Given the description of an element on the screen output the (x, y) to click on. 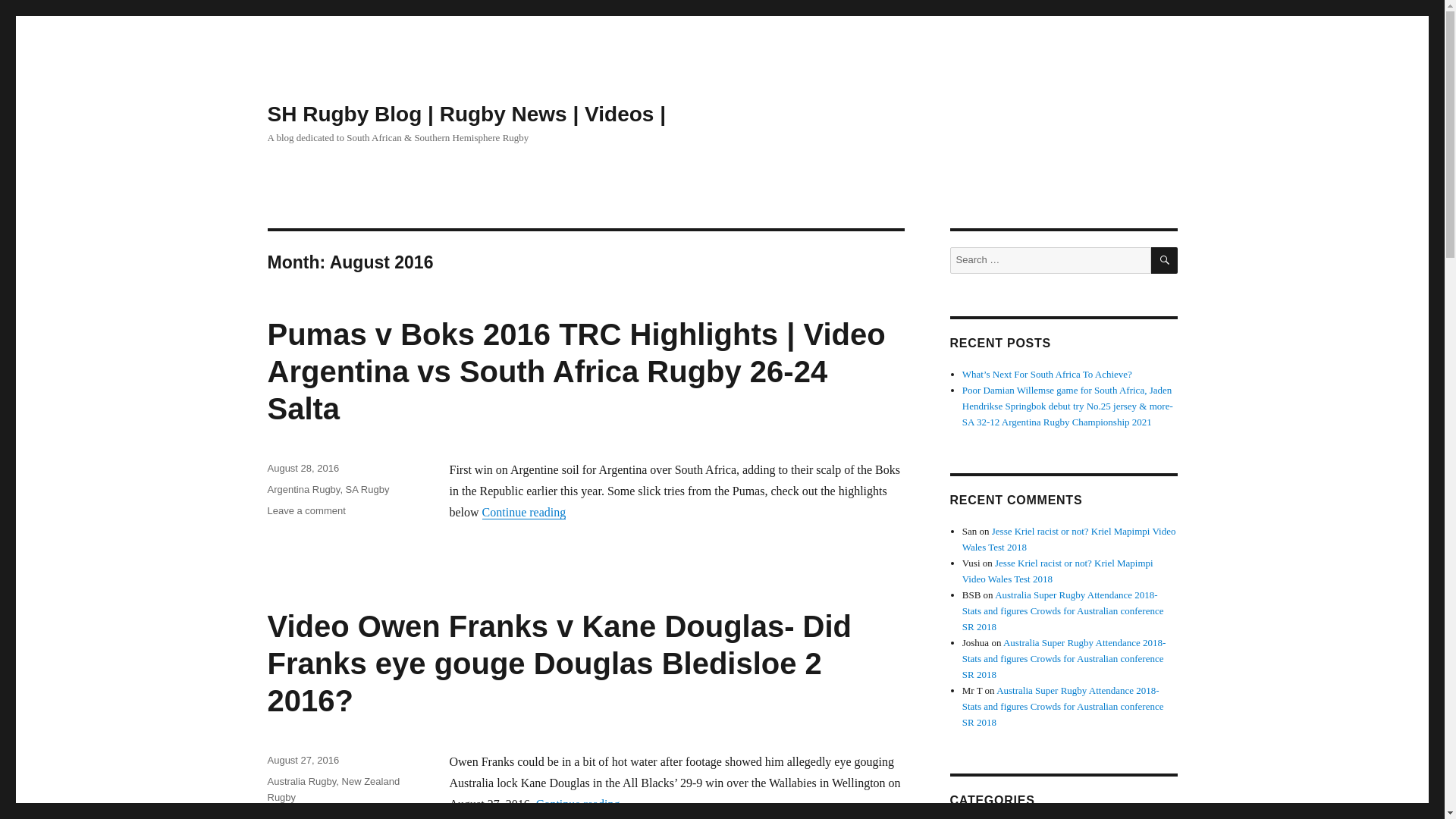
Australia Rugby (301, 781)
August 28, 2016 (302, 468)
New Zealand Rugby (332, 789)
SEARCH (1164, 260)
SA Rugby (368, 489)
Argentina Rugby (302, 489)
August 27, 2016 (302, 759)
